Given the description of an element on the screen output the (x, y) to click on. 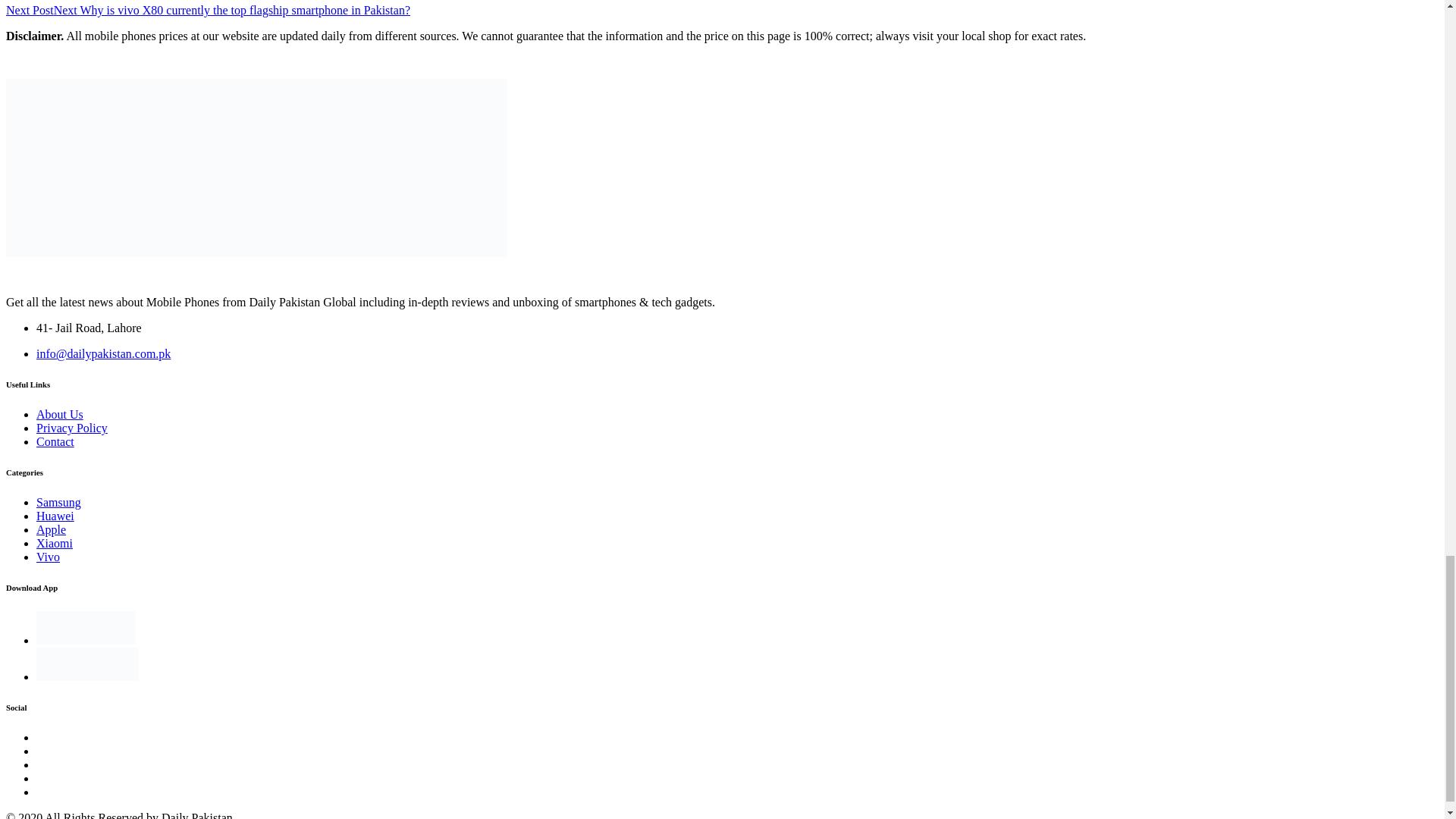
Huawei (55, 515)
Contact (55, 440)
About Us (59, 413)
Vivo (47, 556)
Xiaomi (54, 543)
Apple (50, 529)
Privacy Policy (71, 427)
Samsung (58, 502)
